Given the description of an element on the screen output the (x, y) to click on. 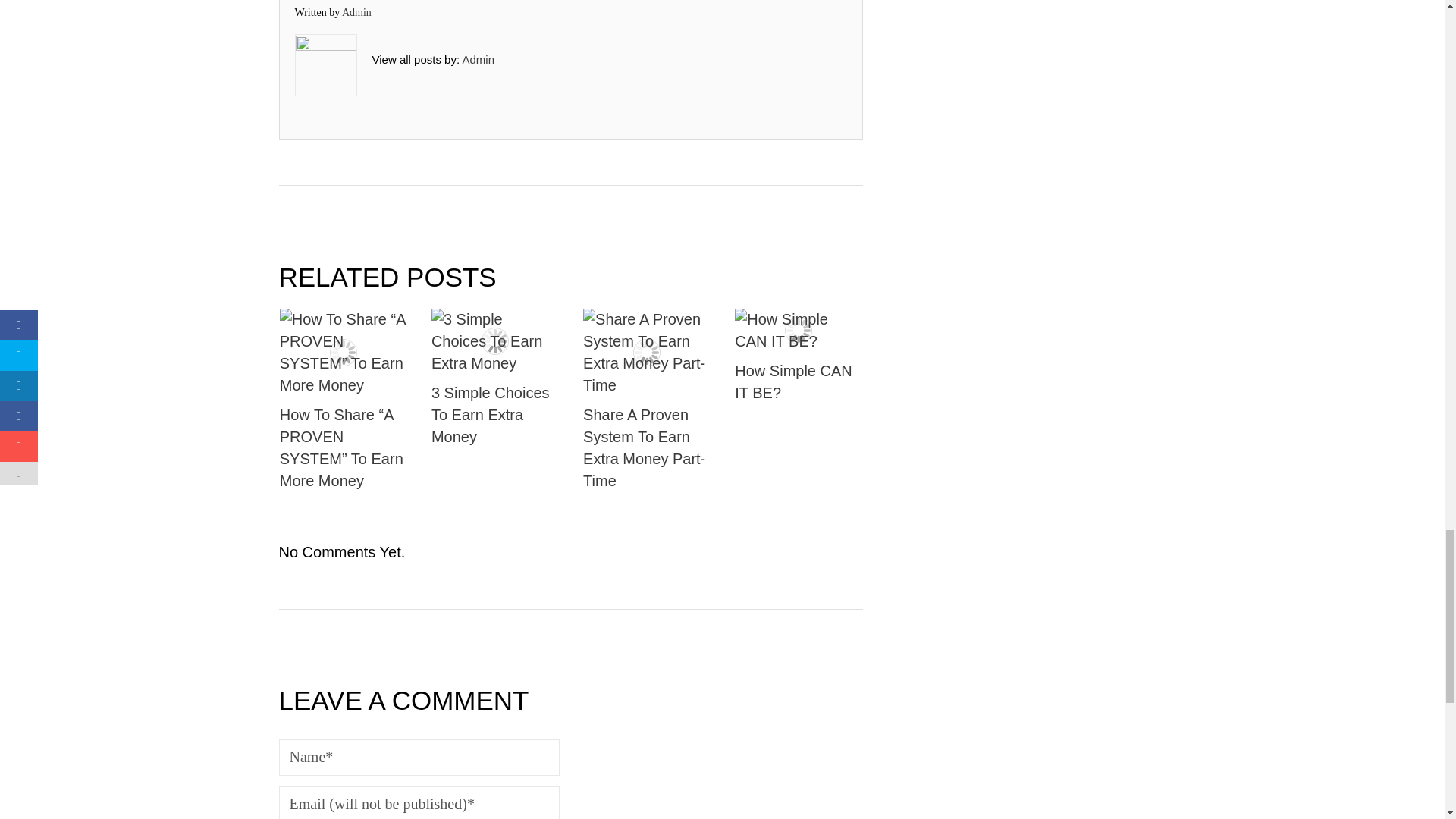
Posts by admin (356, 12)
Posts by admin (478, 59)
Share A Proven System To Earn Extra Money Part-Time (646, 352)
3 Simple Choices To Earn Extra Money (494, 341)
How Simple CAN IT BE? (798, 330)
